Given the description of an element on the screen output the (x, y) to click on. 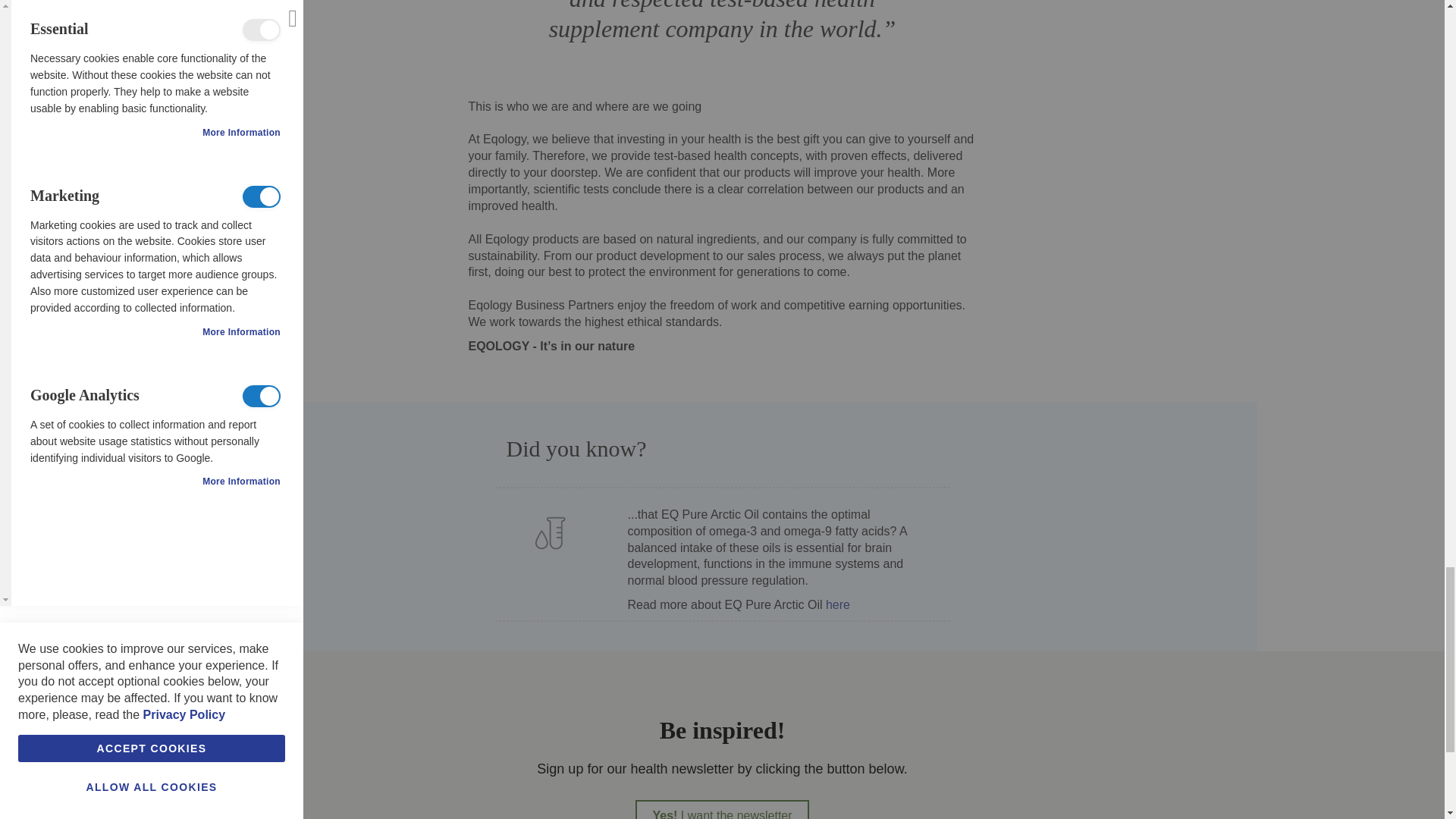
here (721, 809)
